Given the description of an element on the screen output the (x, y) to click on. 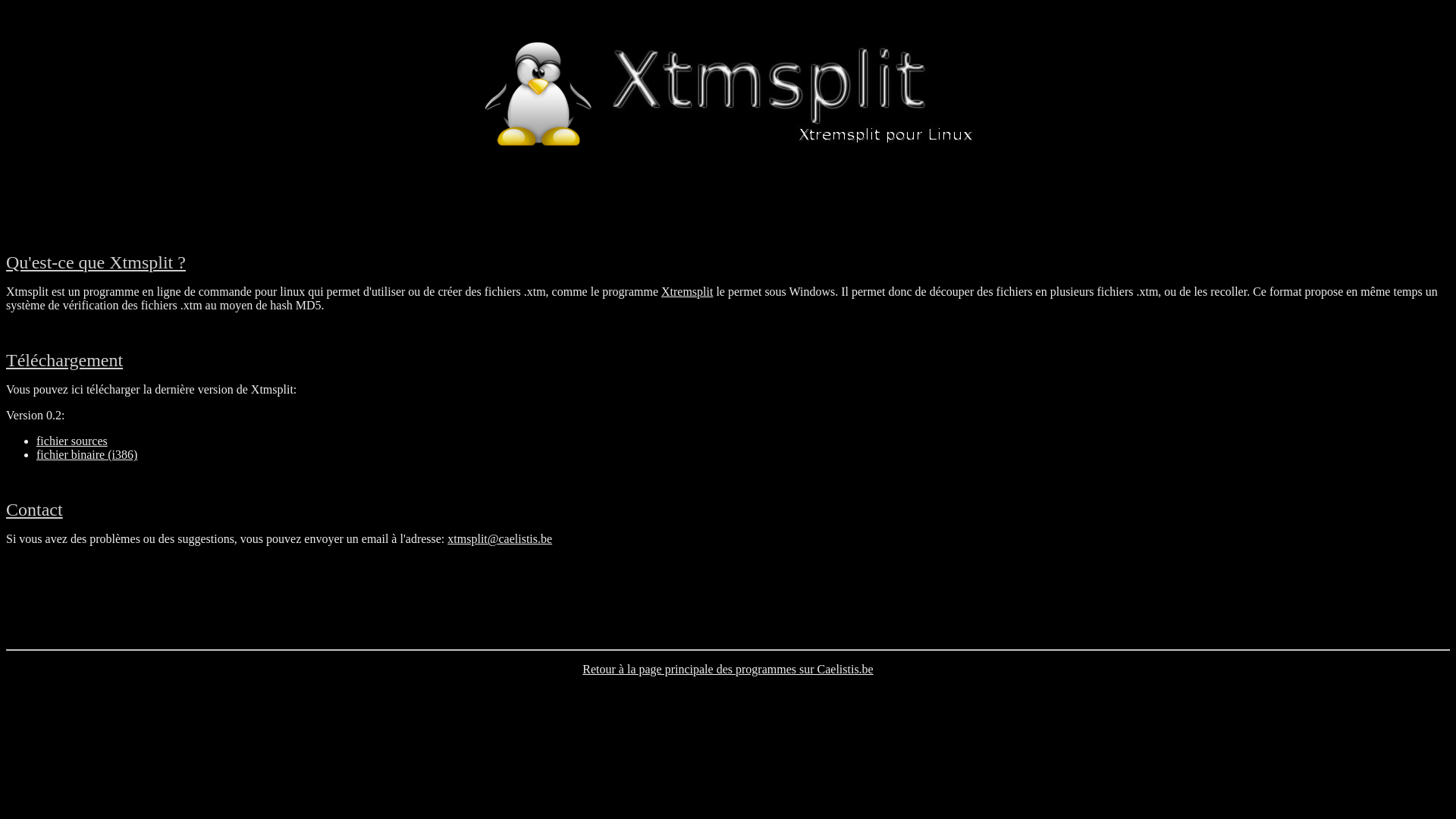
fichier sources Element type: text (71, 440)
Xtremsplit Element type: text (686, 291)
Advertisement Element type: hover (727, 203)
Advertisement Element type: hover (727, 605)
fichier binaire (i386) Element type: text (86, 454)
xtmsplit@caelistis.be Element type: text (499, 538)
